Given the description of an element on the screen output the (x, y) to click on. 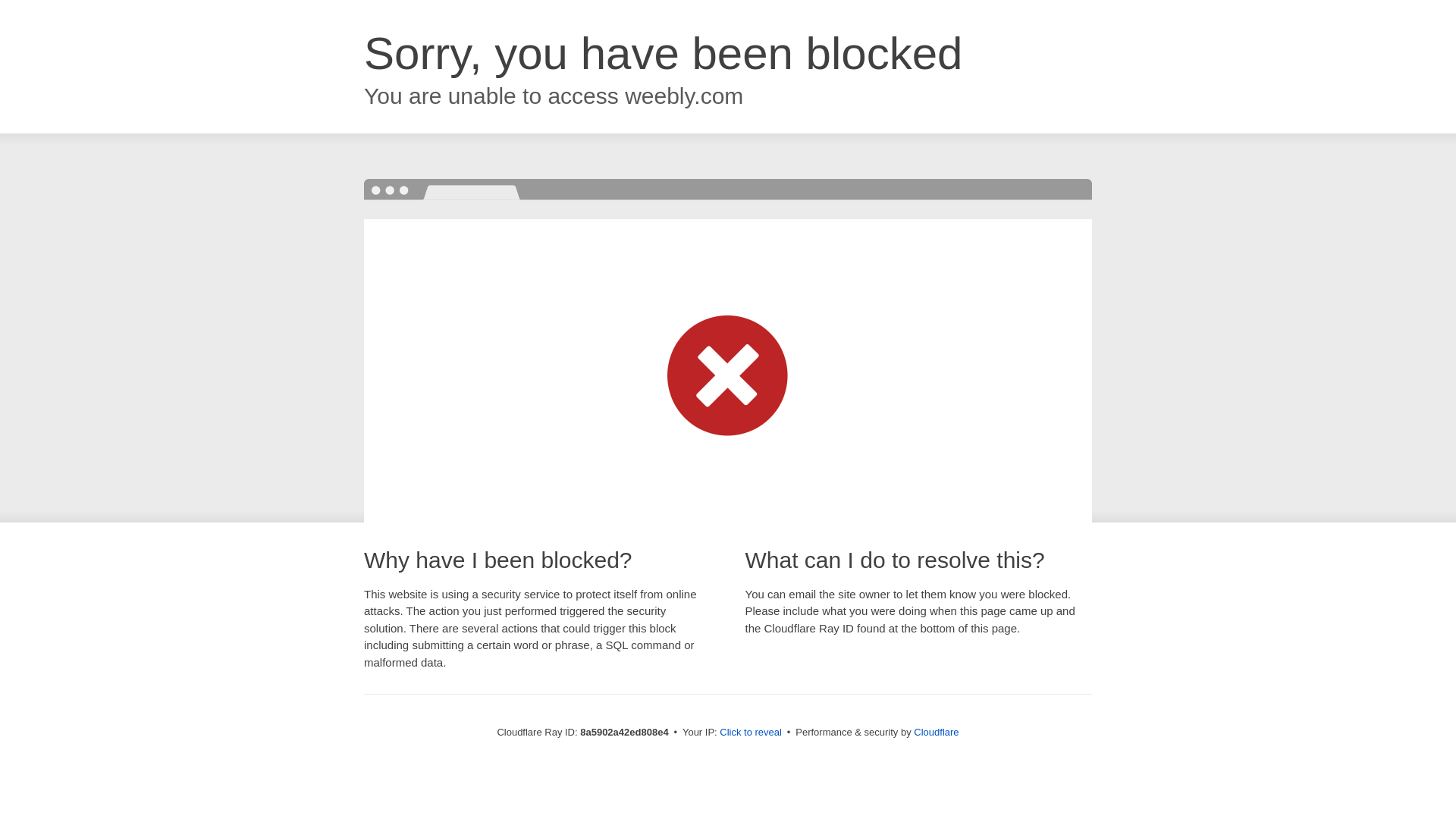
Click to reveal (750, 732)
Cloudflare (936, 731)
